Given the description of an element on the screen output the (x, y) to click on. 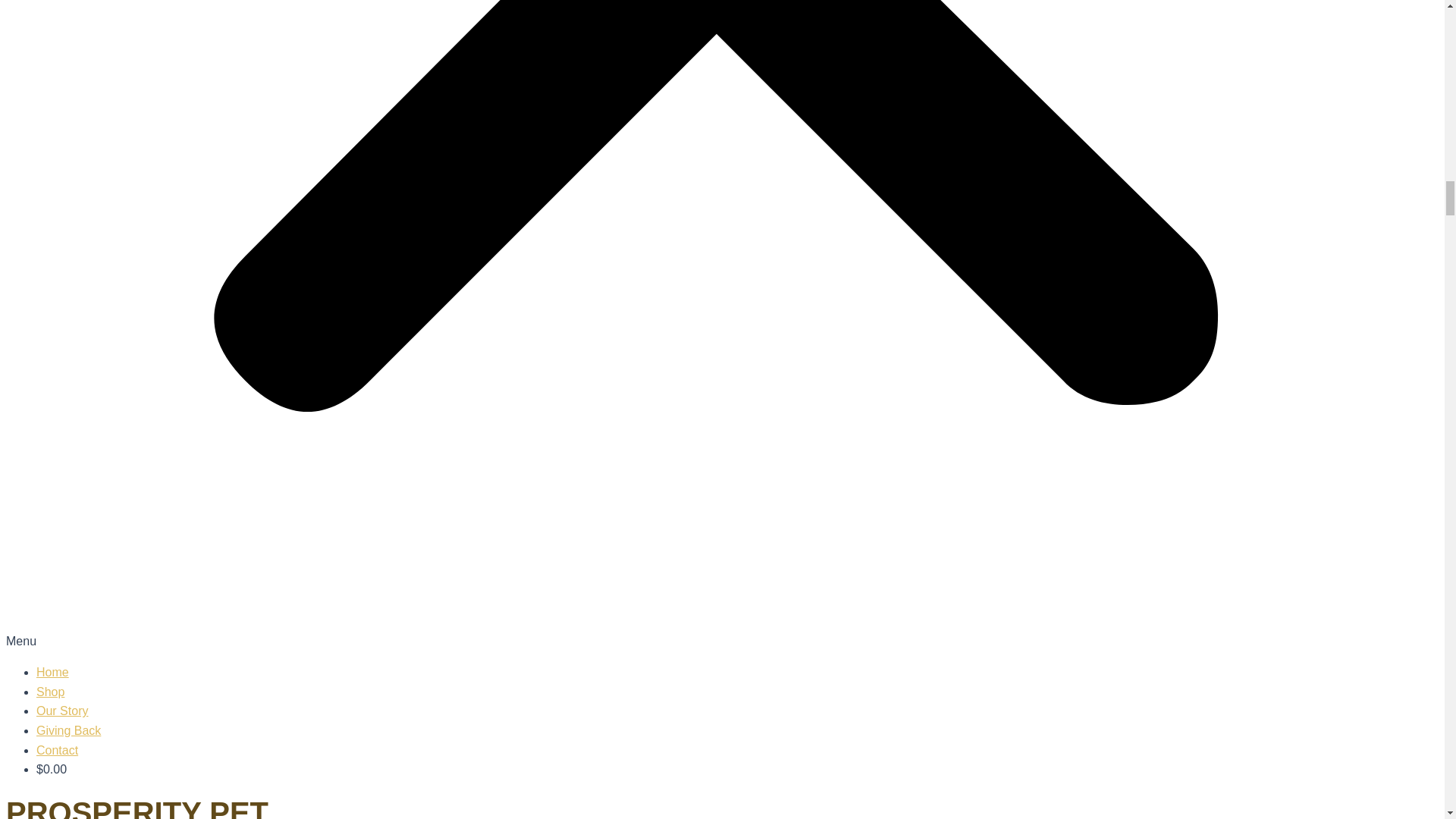
Contact (57, 749)
Shop (50, 691)
Our Story (61, 710)
Giving Back (68, 730)
Home (52, 671)
